Given the description of an element on the screen output the (x, y) to click on. 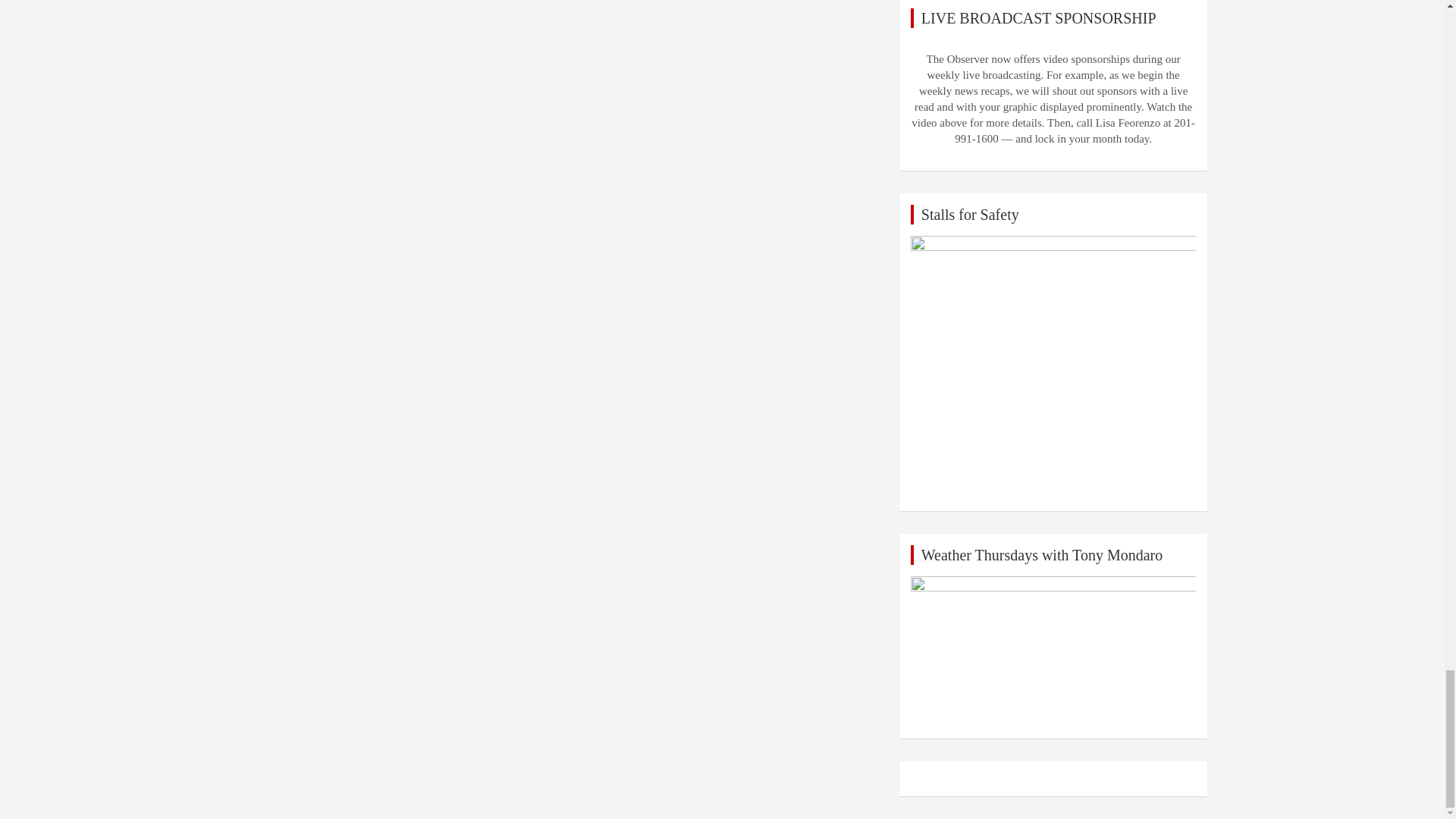
Weather on Fridays with Tony Mondaro (1053, 652)
Erick Roofing (1053, 366)
